Given the description of an element on the screen output the (x, y) to click on. 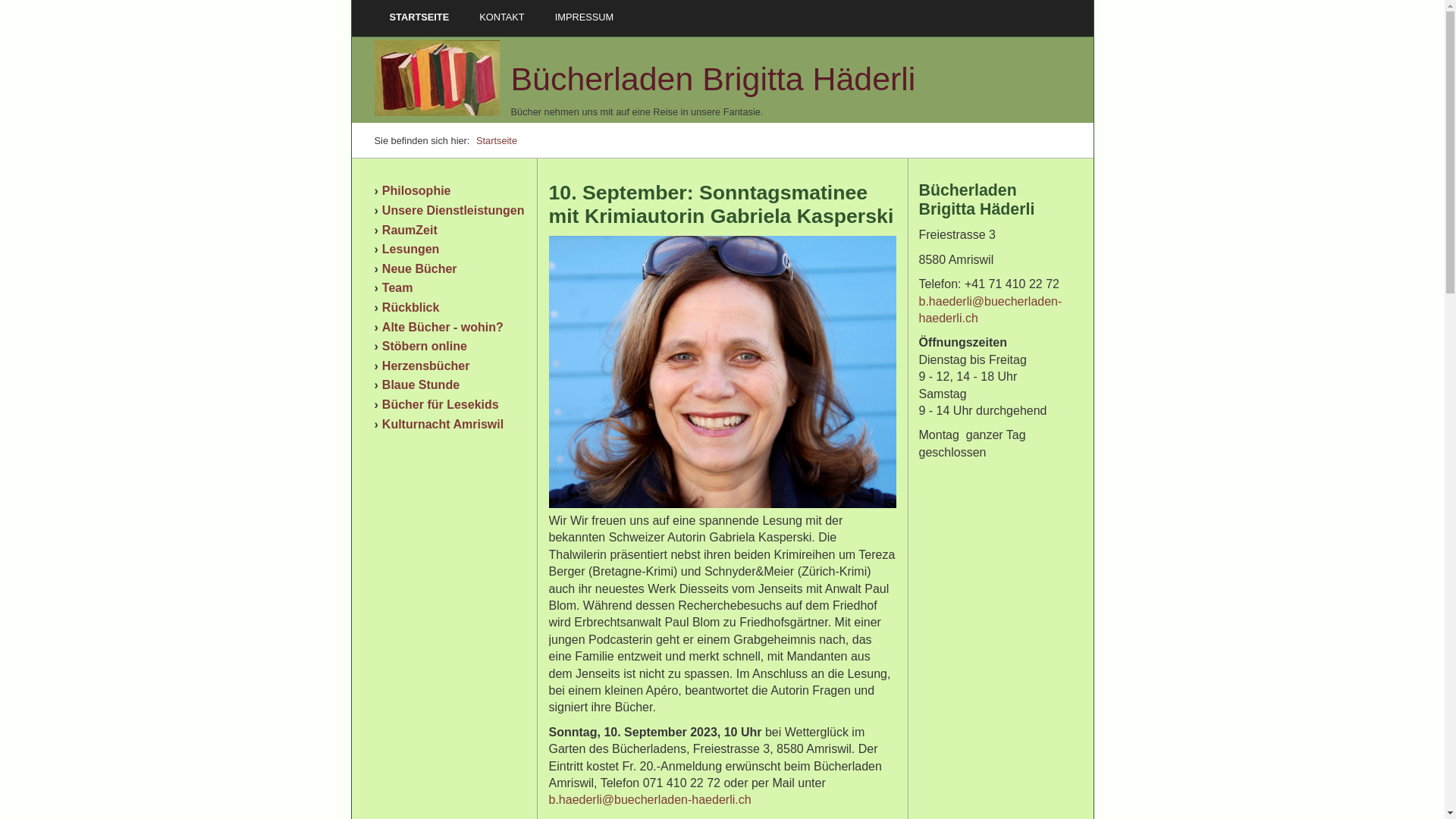
b.haederli@buecherladen-haederli.ch Element type: text (990, 309)
b.haederli@buecherladen-haederli.ch Element type: text (650, 799)
KONTAKT Element type: text (501, 17)
Team Element type: text (397, 287)
RaumZeit Element type: text (409, 229)
Unsere Dienstleistungen Element type: text (453, 209)
Lesungen Element type: text (410, 248)
Kulturnacht Amriswil Element type: text (442, 423)
IMPRESSUM Element type: text (584, 17)
Philosophie Element type: text (416, 190)
Blaue Stunde Element type: text (420, 384)
Startseite Element type: text (496, 140)
STARTSEITE Element type: text (419, 17)
